Given the description of an element on the screen output the (x, y) to click on. 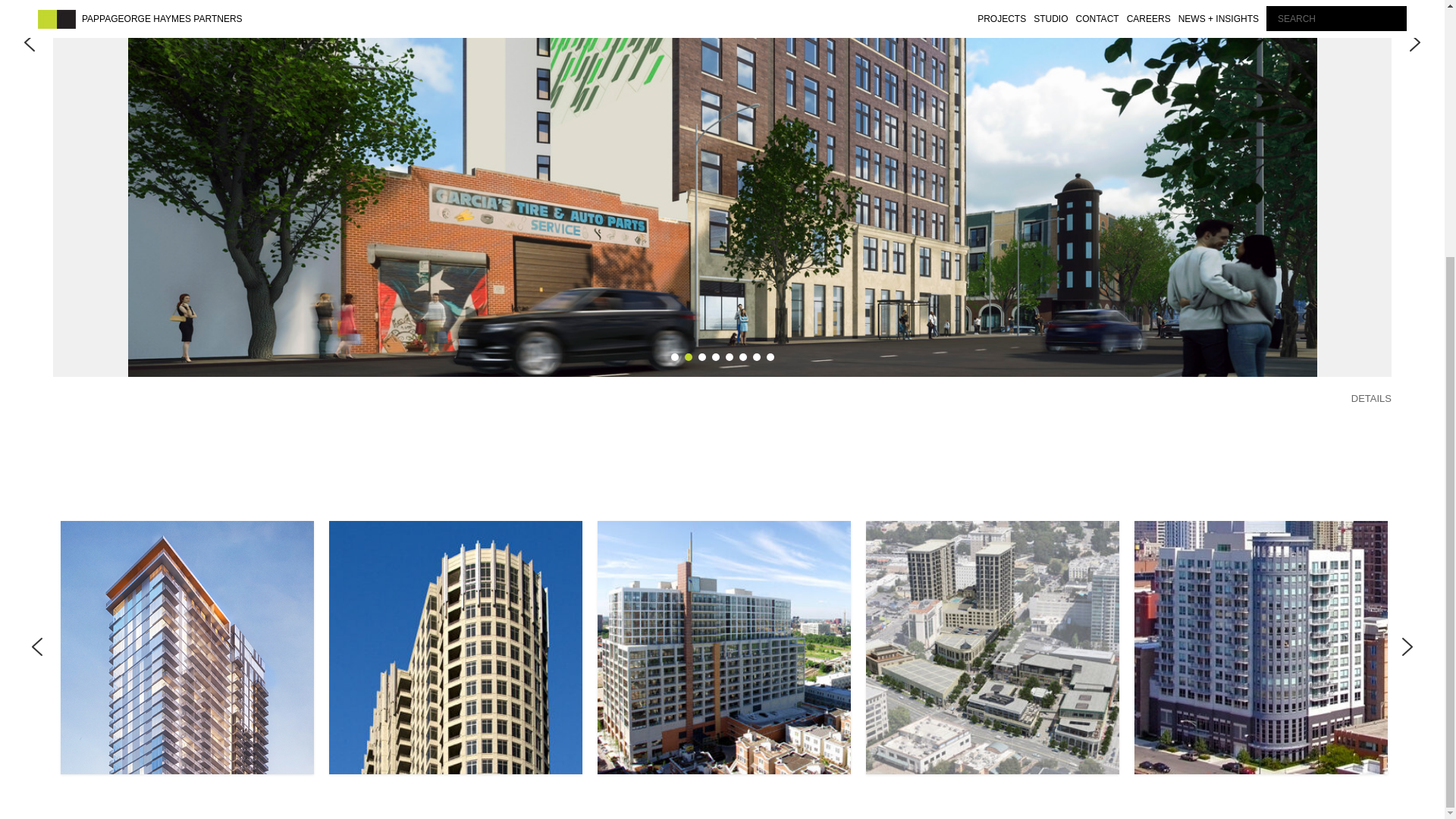
Previous (37, 648)
DETAILS (1371, 398)
